Given the description of an element on the screen output the (x, y) to click on. 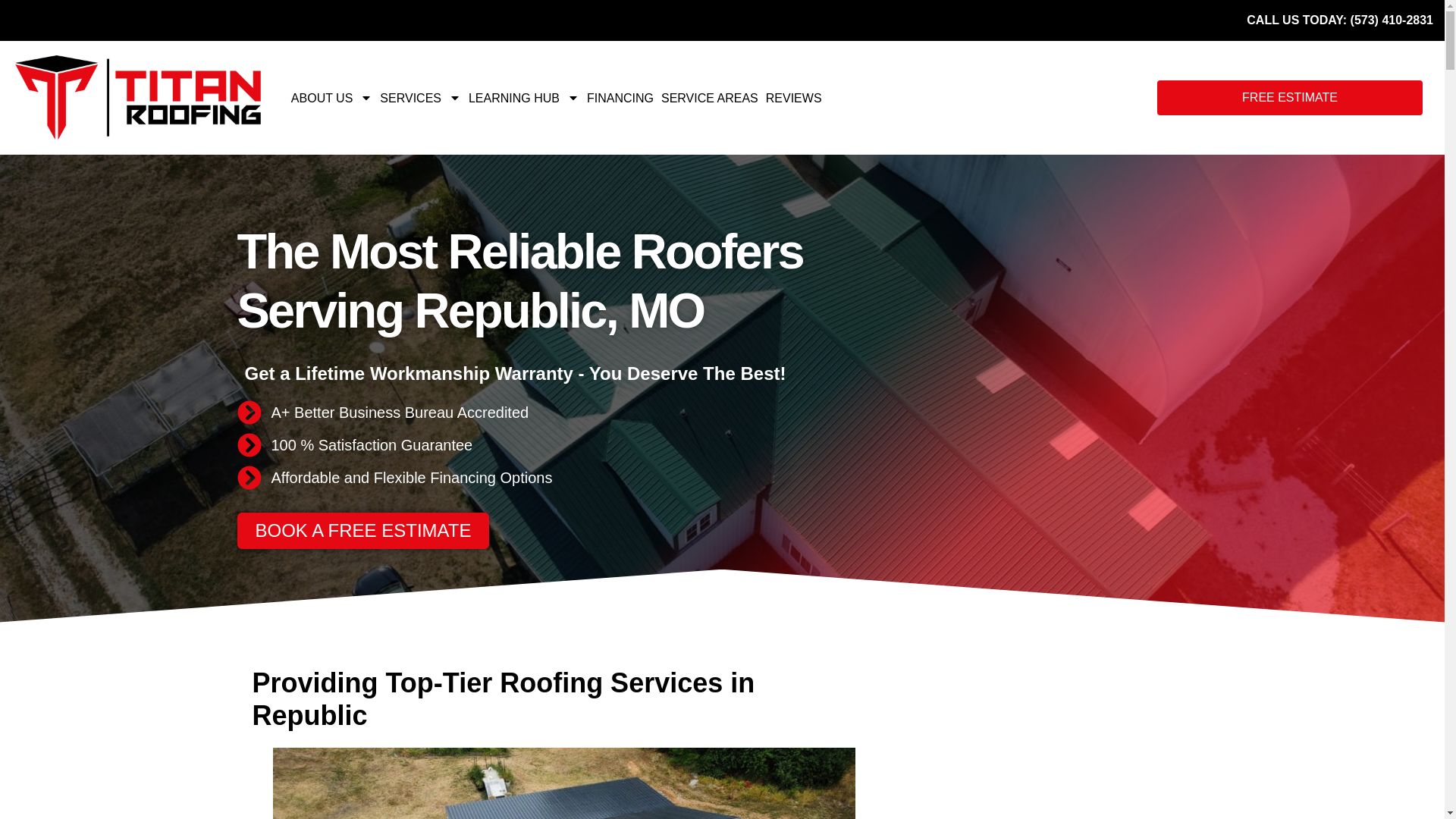
FINANCING (620, 98)
ABOUT US (331, 98)
SERVICE AREAS (709, 98)
LEARNING HUB (523, 98)
REVIEWS (793, 98)
SERVICES (419, 98)
